Given the description of an element on the screen output the (x, y) to click on. 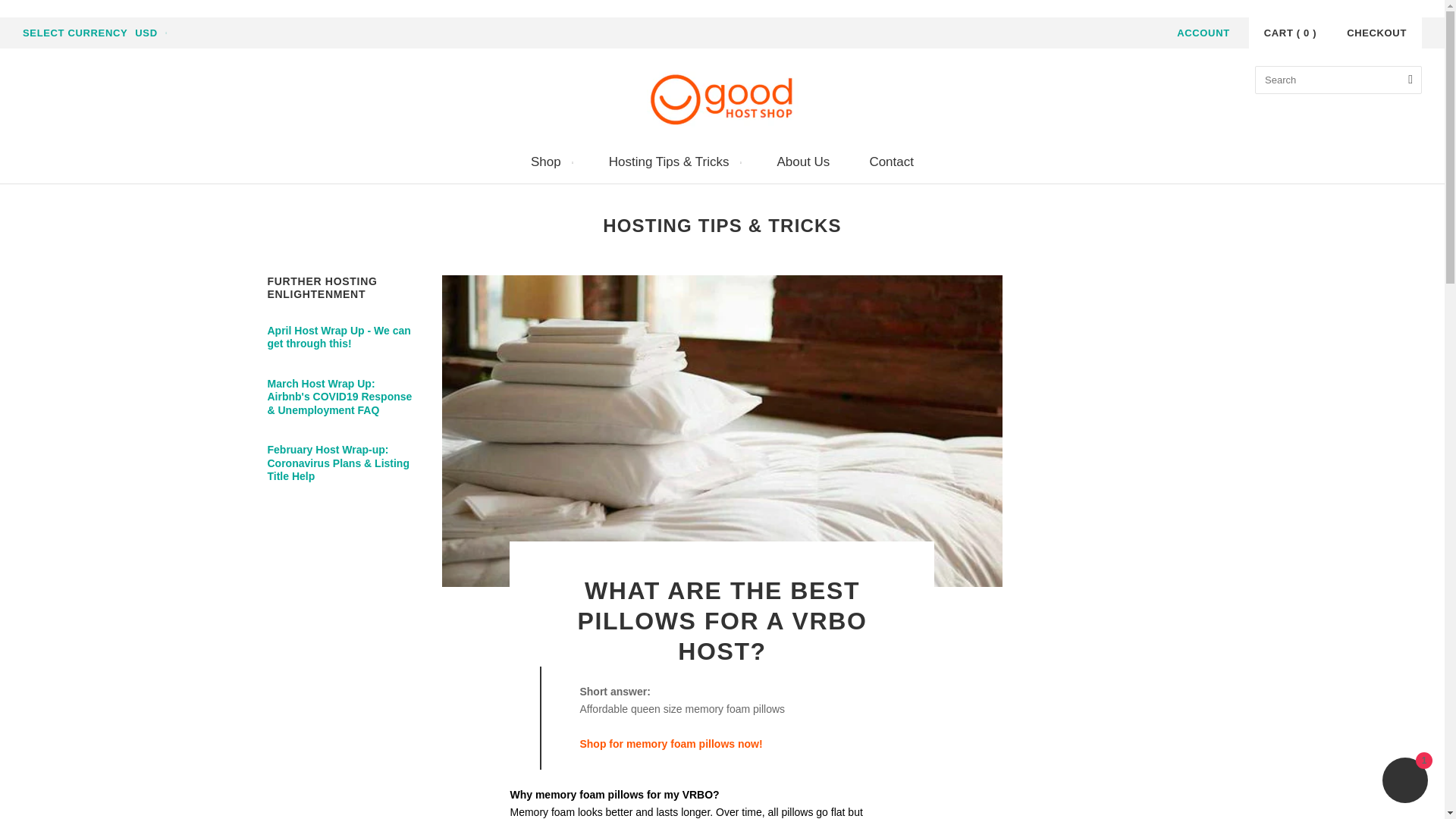
Shop (550, 161)
ACCOUNT (1203, 32)
Shopify online store chat (1404, 781)
Best Pillows for Airbnb and Short term rentals (670, 751)
CHECKOUT (1377, 32)
